Given the description of an element on the screen output the (x, y) to click on. 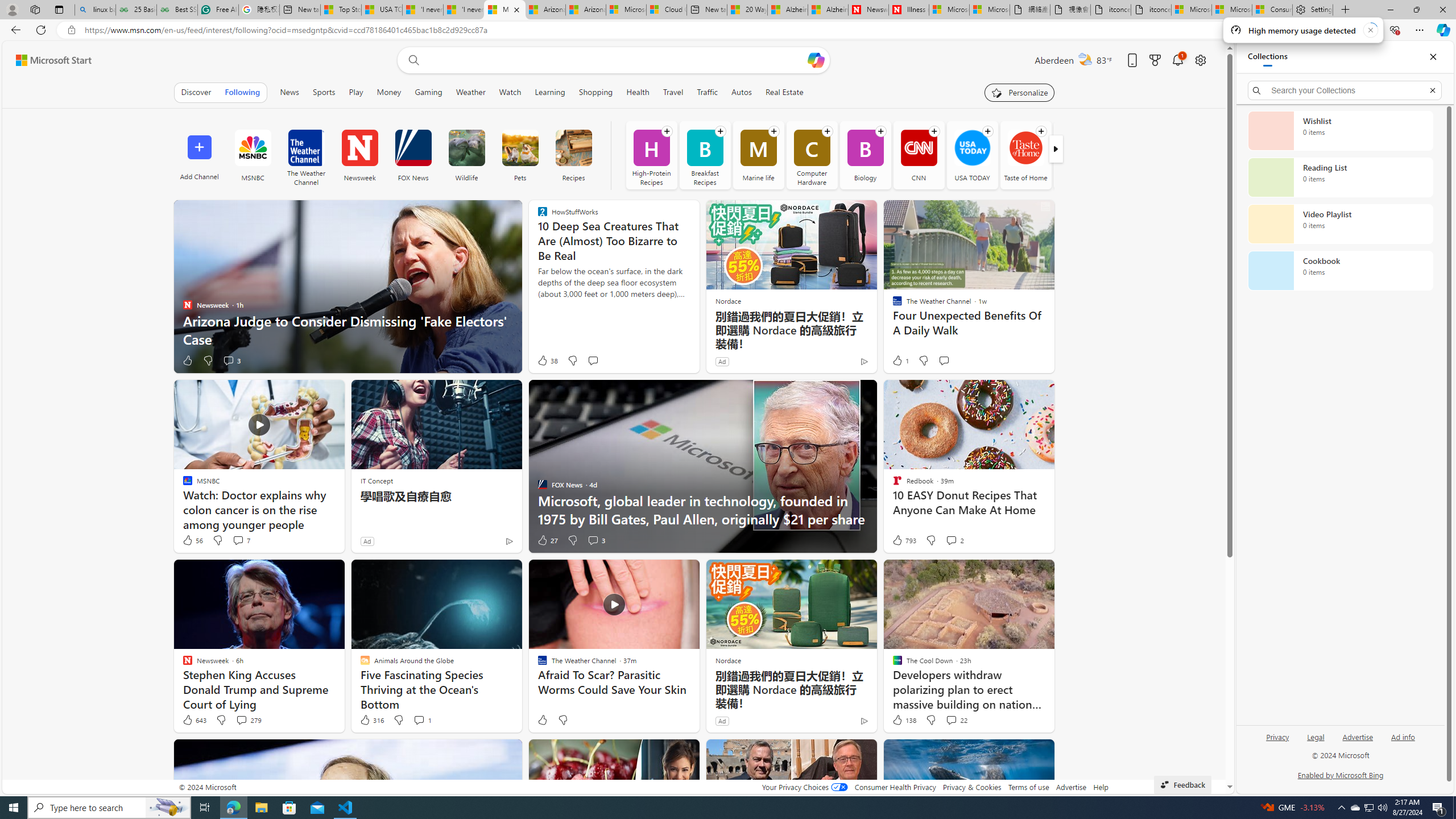
The Weather Channel (306, 155)
Legal (1315, 741)
itconcepthk.com/projector_solutions.mp4 (1150, 9)
View comments 22 Comment (956, 719)
Play (355, 92)
Shopping (595, 92)
Pets (519, 155)
Legal (1315, 736)
